Given the description of an element on the screen output the (x, y) to click on. 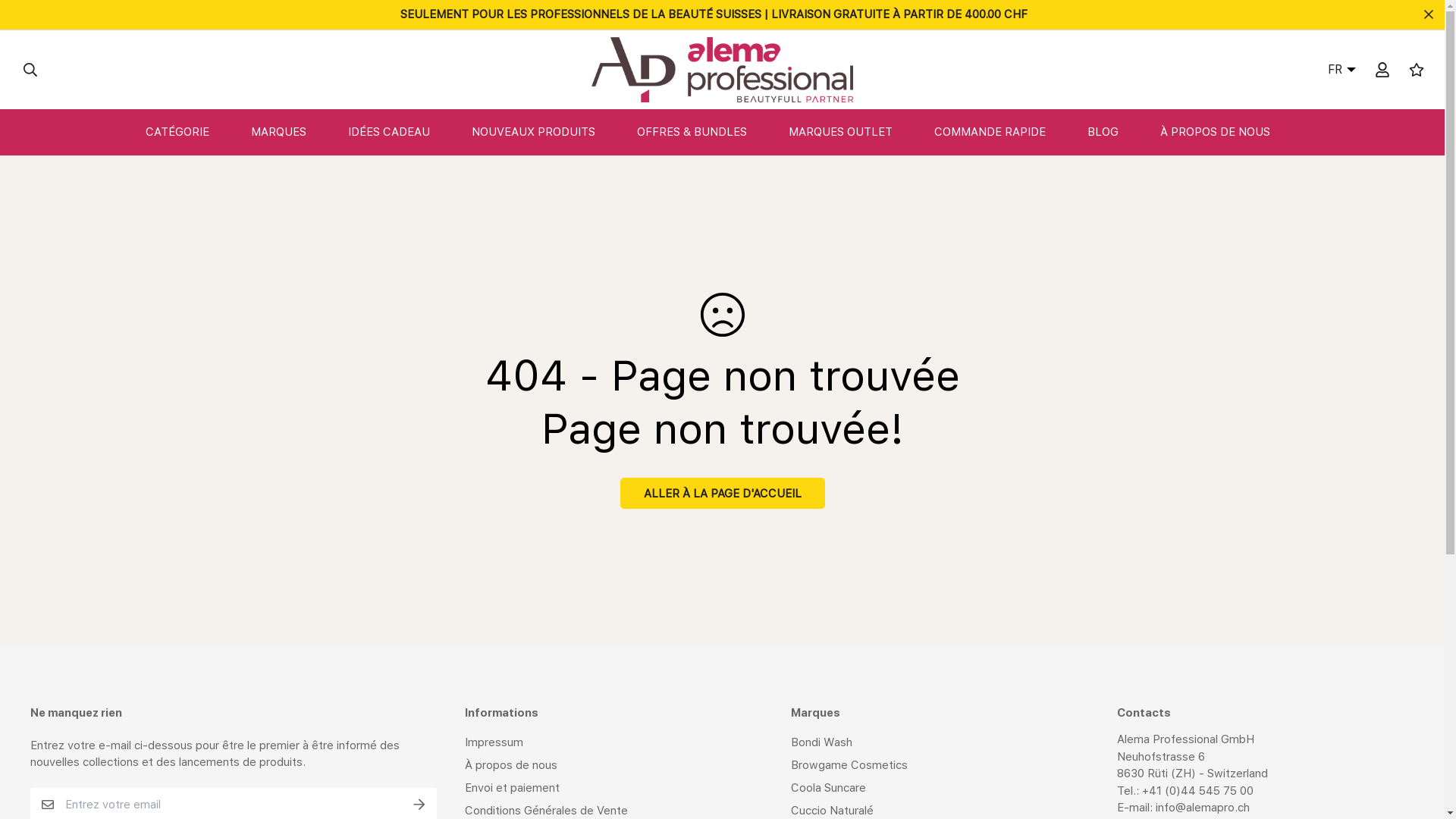
Bondi Wash Element type: text (821, 742)
OFFRES & BUNDLES Element type: text (706, 132)
COMMANDE RAPIDE Element type: text (1004, 132)
AlemaProShop Element type: hover (722, 69)
MARQUES Element type: text (292, 132)
NOUVEAUX PRODUITS Element type: text (547, 132)
Browgame Cosmetics Element type: text (848, 765)
Impressum Element type: text (493, 742)
Coola Suncare Element type: text (828, 787)
MARQUES OUTLET Element type: text (855, 132)
Envoi et paiement Element type: text (511, 787)
BLOG Element type: text (1117, 132)
